Given the description of an element on the screen output the (x, y) to click on. 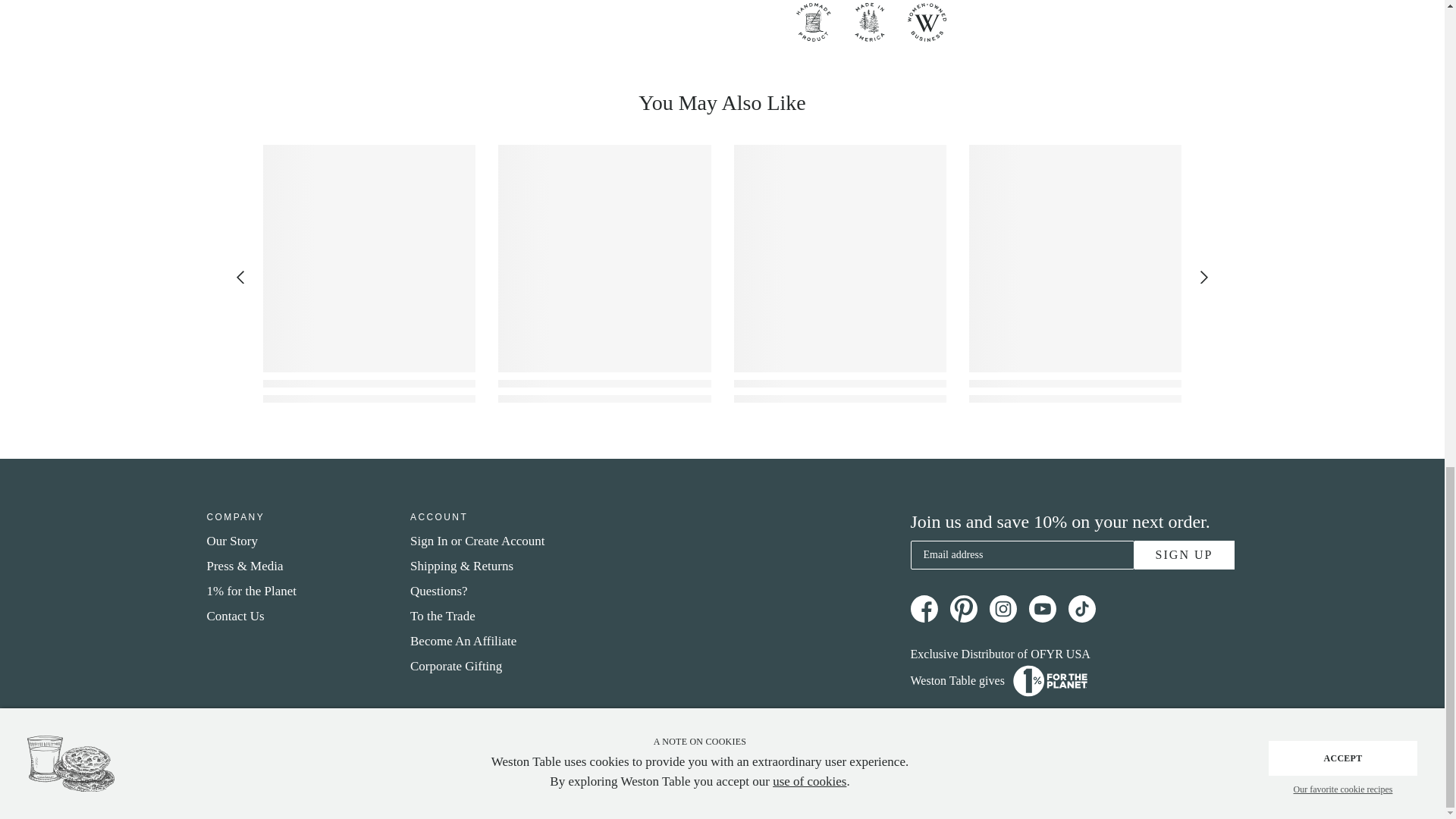
Weston Table on Pinterest (962, 608)
Weston Table on Instagram (1002, 608)
Weston Table on TikTok (1080, 608)
pinterest-circular-logo-symbol Created with Sketch. (962, 608)
instagram Created with Sketch. (1002, 608)
facebook Created with Sketch. (923, 608)
Weston Table on Youtube (1041, 608)
Weston Table on Facebook (923, 608)
